Given the description of an element on the screen output the (x, y) to click on. 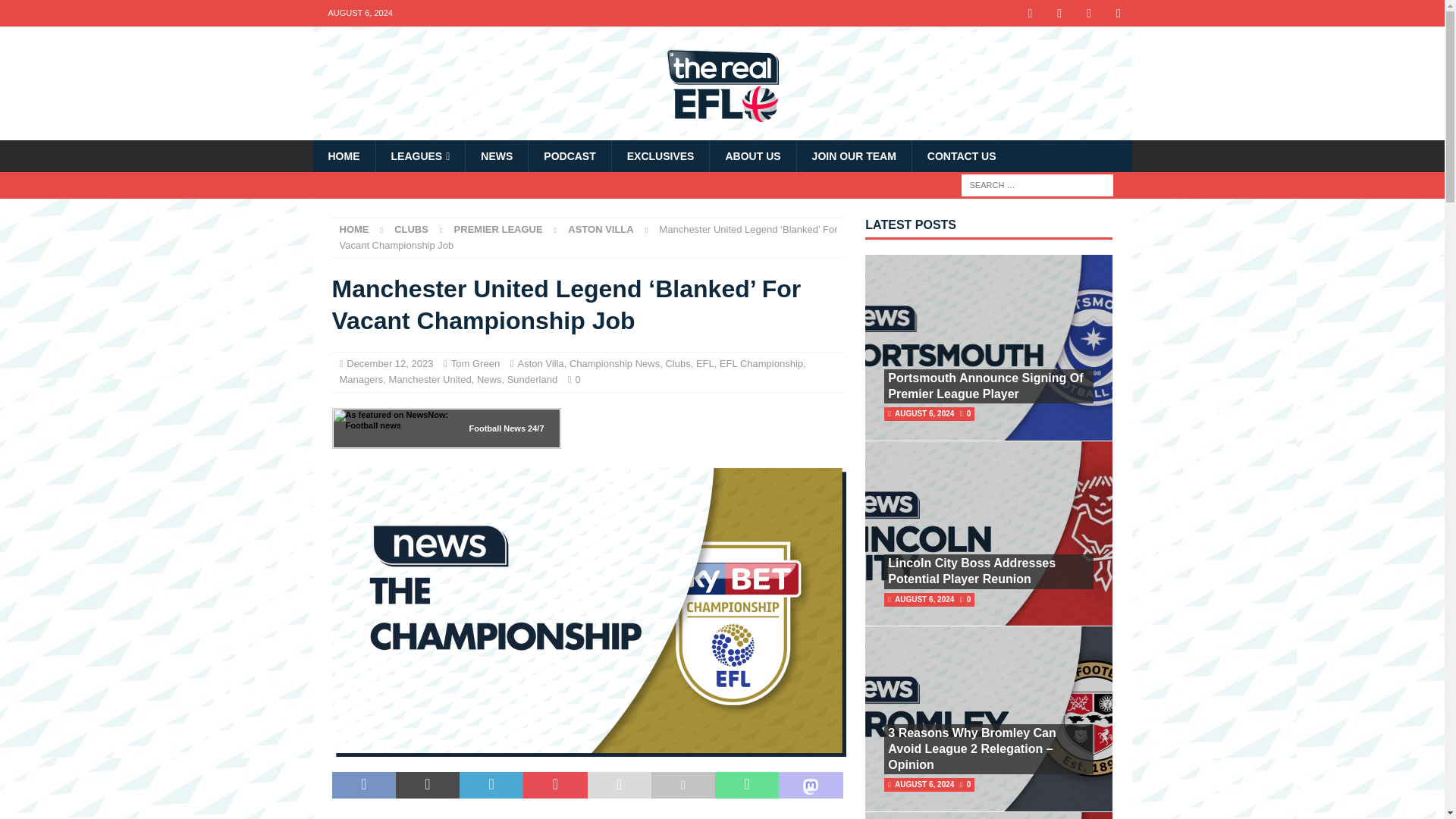
Share on LinkedIn (491, 785)
EXCLUSIVES (660, 155)
Manchester United (429, 378)
Share on Whatsapp (746, 785)
Click here for more Football news from NewsNow (496, 428)
EFL (704, 363)
CONTACT US (961, 155)
HOME (354, 229)
CLUBS (411, 229)
JOIN OUR TEAM (853, 155)
Search (56, 11)
Tom Green (475, 363)
ASTON VILLA (600, 229)
NEWS (495, 155)
Click here for more Football news from NewsNow (393, 428)
